Given the description of an element on the screen output the (x, y) to click on. 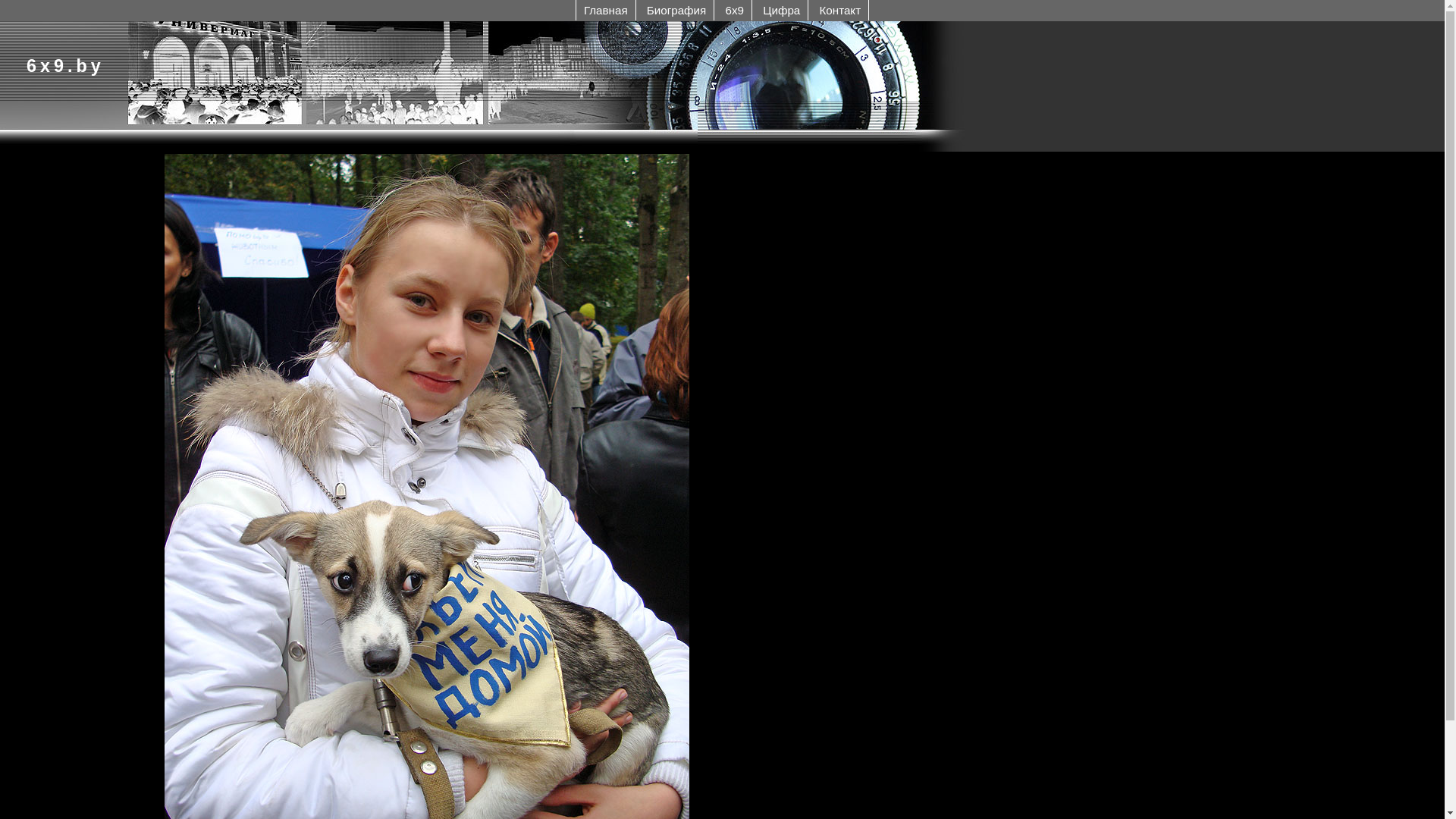
6x9 Element type: text (735, 10)
